Given the description of an element on the screen output the (x, y) to click on. 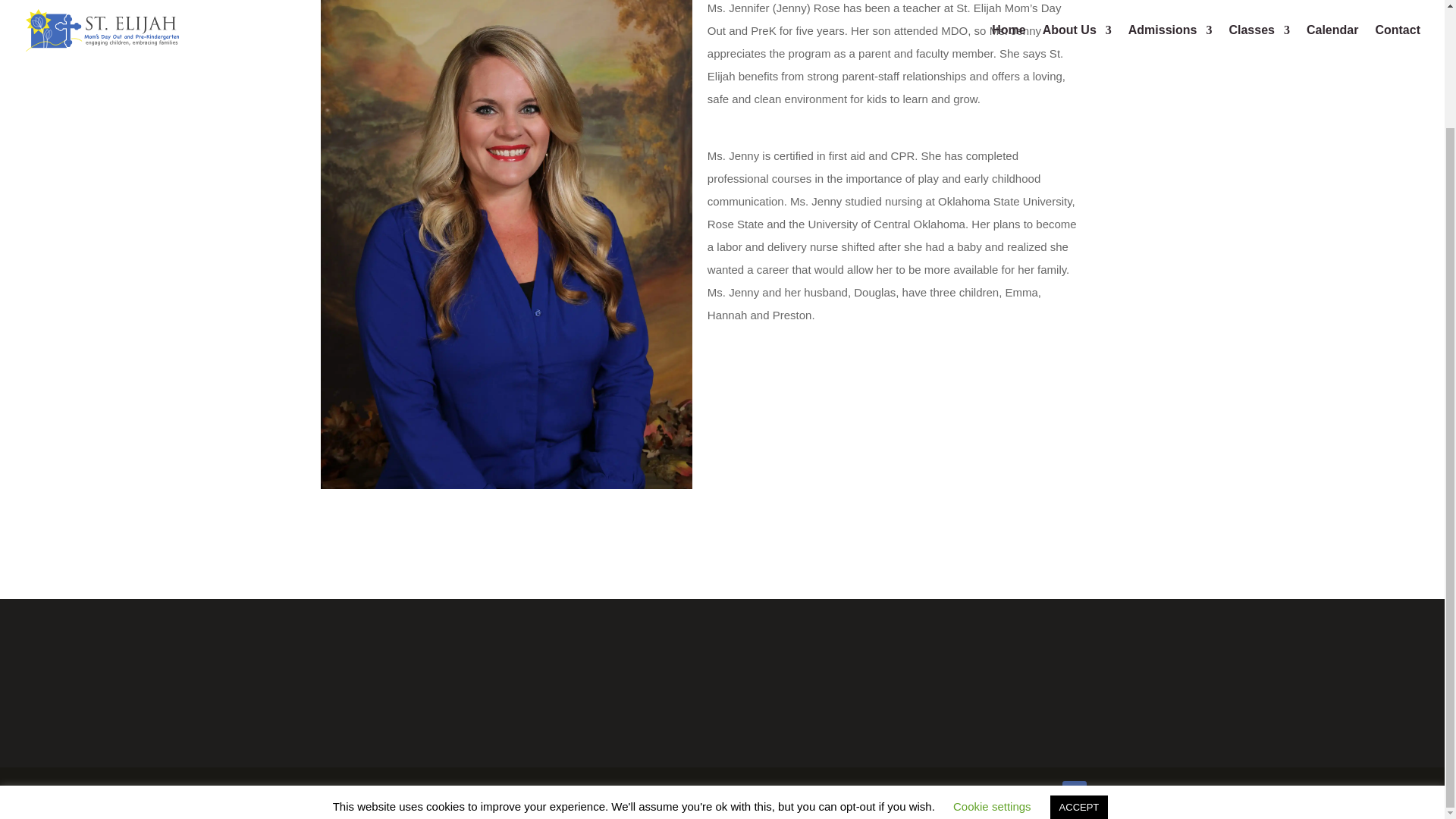
Follow on Facebook (1074, 793)
